Given the description of an element on the screen output the (x, y) to click on. 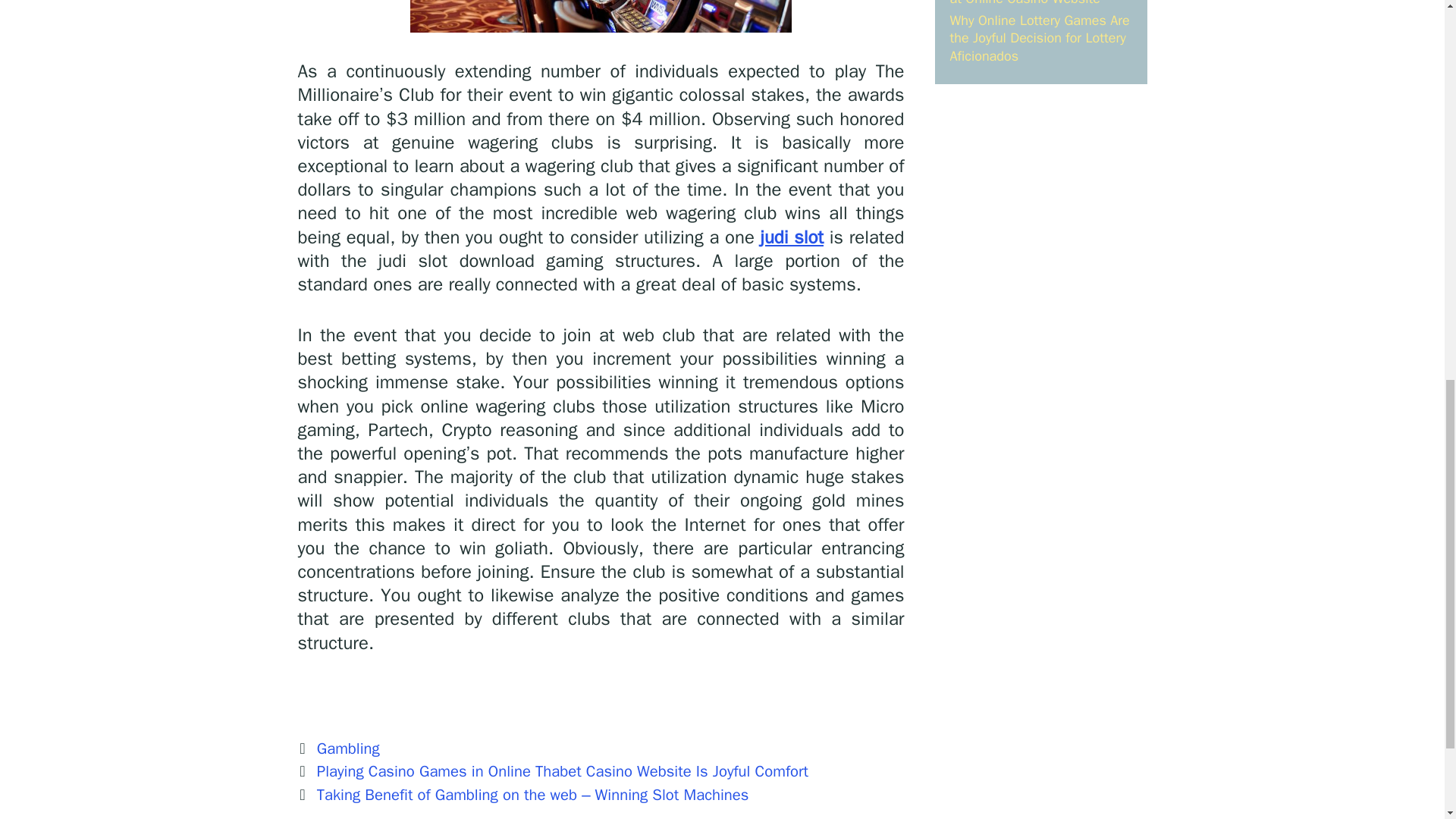
Gambling (348, 748)
judi slot (792, 237)
Next (522, 794)
Previous (552, 771)
